Given the description of an element on the screen output the (x, y) to click on. 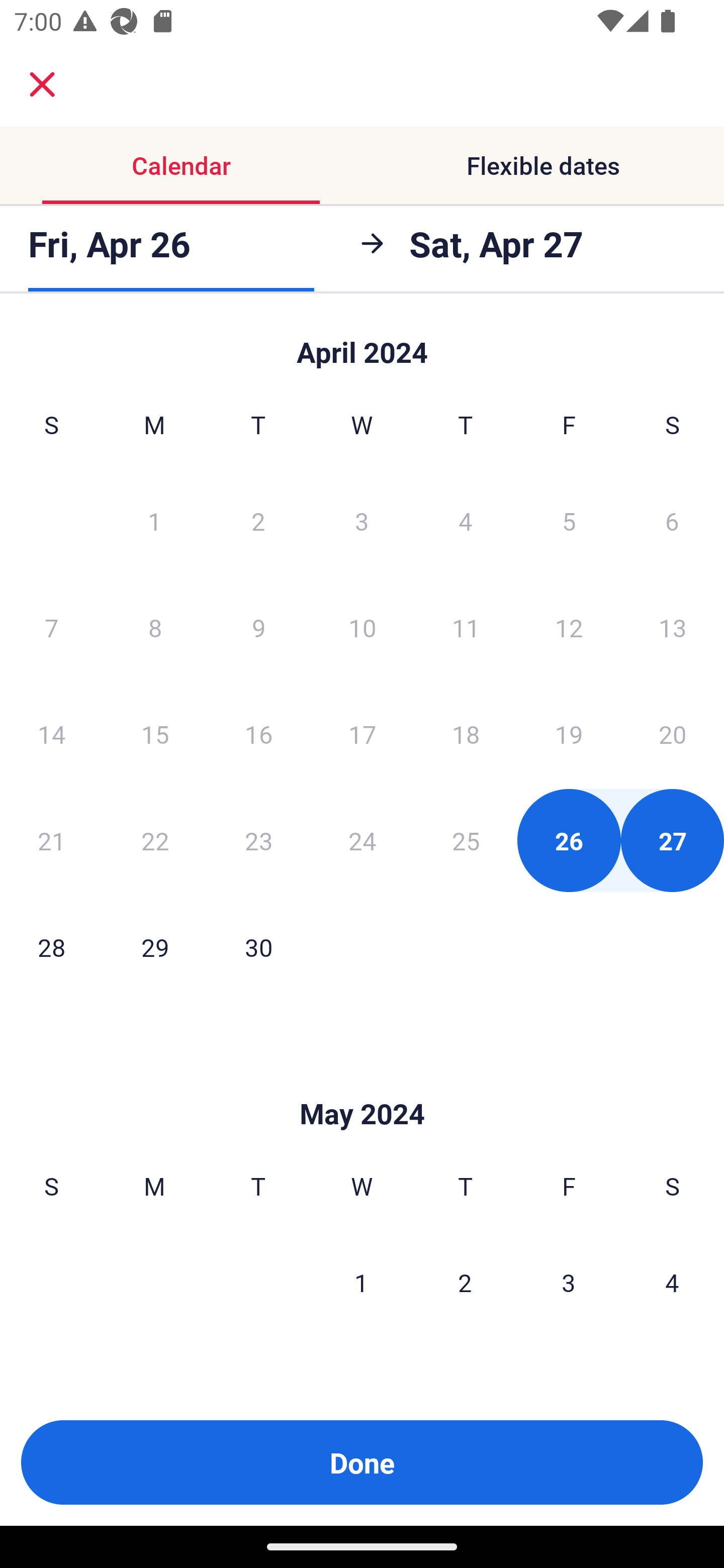
close. (42, 84)
Flexible dates (542, 164)
Skip to Done (362, 343)
1 Monday, April 1, 2024 (154, 520)
2 Tuesday, April 2, 2024 (257, 520)
3 Wednesday, April 3, 2024 (361, 520)
4 Thursday, April 4, 2024 (465, 520)
5 Friday, April 5, 2024 (568, 520)
6 Saturday, April 6, 2024 (672, 520)
7 Sunday, April 7, 2024 (51, 626)
8 Monday, April 8, 2024 (155, 626)
9 Tuesday, April 9, 2024 (258, 626)
10 Wednesday, April 10, 2024 (362, 626)
11 Thursday, April 11, 2024 (465, 626)
12 Friday, April 12, 2024 (569, 626)
13 Saturday, April 13, 2024 (672, 626)
14 Sunday, April 14, 2024 (51, 733)
15 Monday, April 15, 2024 (155, 733)
16 Tuesday, April 16, 2024 (258, 733)
17 Wednesday, April 17, 2024 (362, 733)
18 Thursday, April 18, 2024 (465, 733)
19 Friday, April 19, 2024 (569, 733)
20 Saturday, April 20, 2024 (672, 733)
21 Sunday, April 21, 2024 (51, 840)
22 Monday, April 22, 2024 (155, 840)
23 Tuesday, April 23, 2024 (258, 840)
24 Wednesday, April 24, 2024 (362, 840)
25 Thursday, April 25, 2024 (465, 840)
28 Sunday, April 28, 2024 (51, 946)
29 Monday, April 29, 2024 (155, 946)
30 Tuesday, April 30, 2024 (258, 946)
Skip to Done (362, 1083)
1 Wednesday, May 1, 2024 (361, 1282)
2 Thursday, May 2, 2024 (464, 1282)
3 Friday, May 3, 2024 (568, 1282)
4 Saturday, May 4, 2024 (672, 1282)
Done (361, 1462)
